Given the description of an element on the screen output the (x, y) to click on. 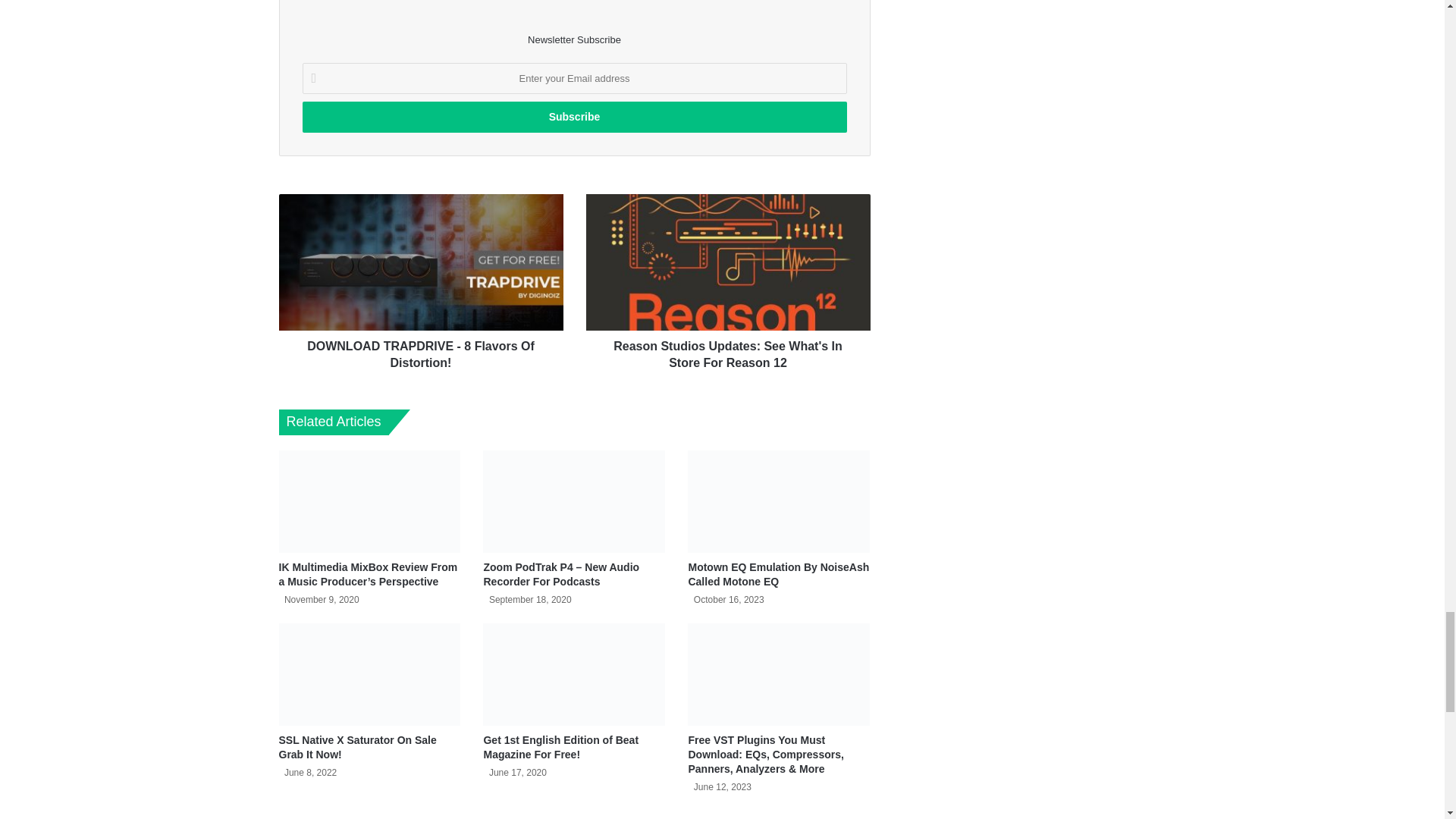
DOWNLOAD TRAPDRIVE - 8 Flavors Of Distortion! (421, 262)
Subscribe (573, 116)
DOWNLOAD TRAPDRIVE - 8 Flavors Of Distortion! (421, 350)
Subscribe (573, 116)
Reason Studios Updates: See What's In Store For Reason 12 (727, 350)
Motown EQ Emulation By NoiseAsh Called Motone EQ (778, 574)
Reason Studios Updates: See What's In Store For Reason 12 (727, 262)
